Given the description of an element on the screen output the (x, y) to click on. 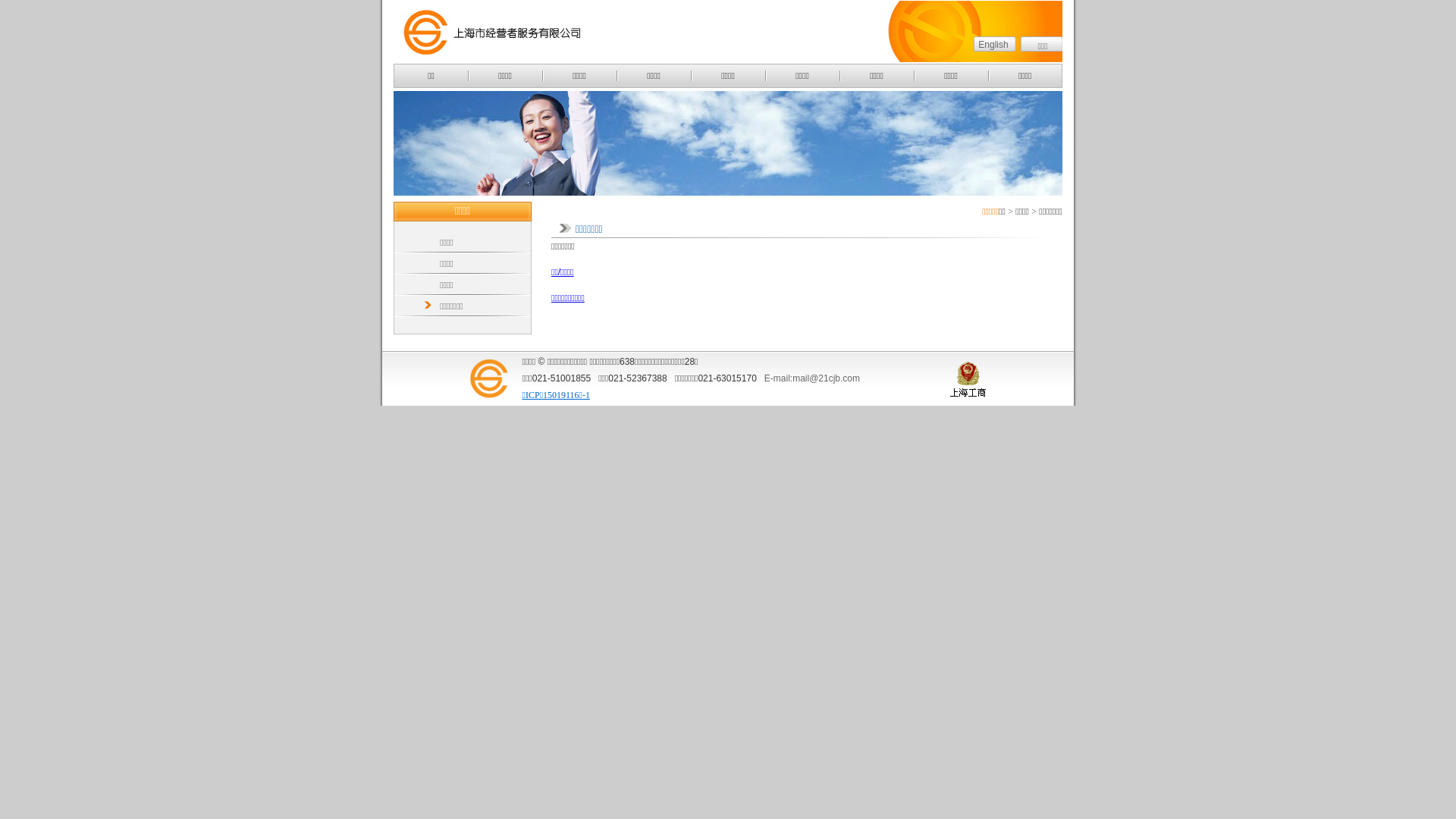
> Element type: text (1033, 211)
> Element type: text (1010, 211)
English Element type: text (992, 44)
E-mail:mail@21cjb.com Element type: text (811, 378)
